Given the description of an element on the screen output the (x, y) to click on. 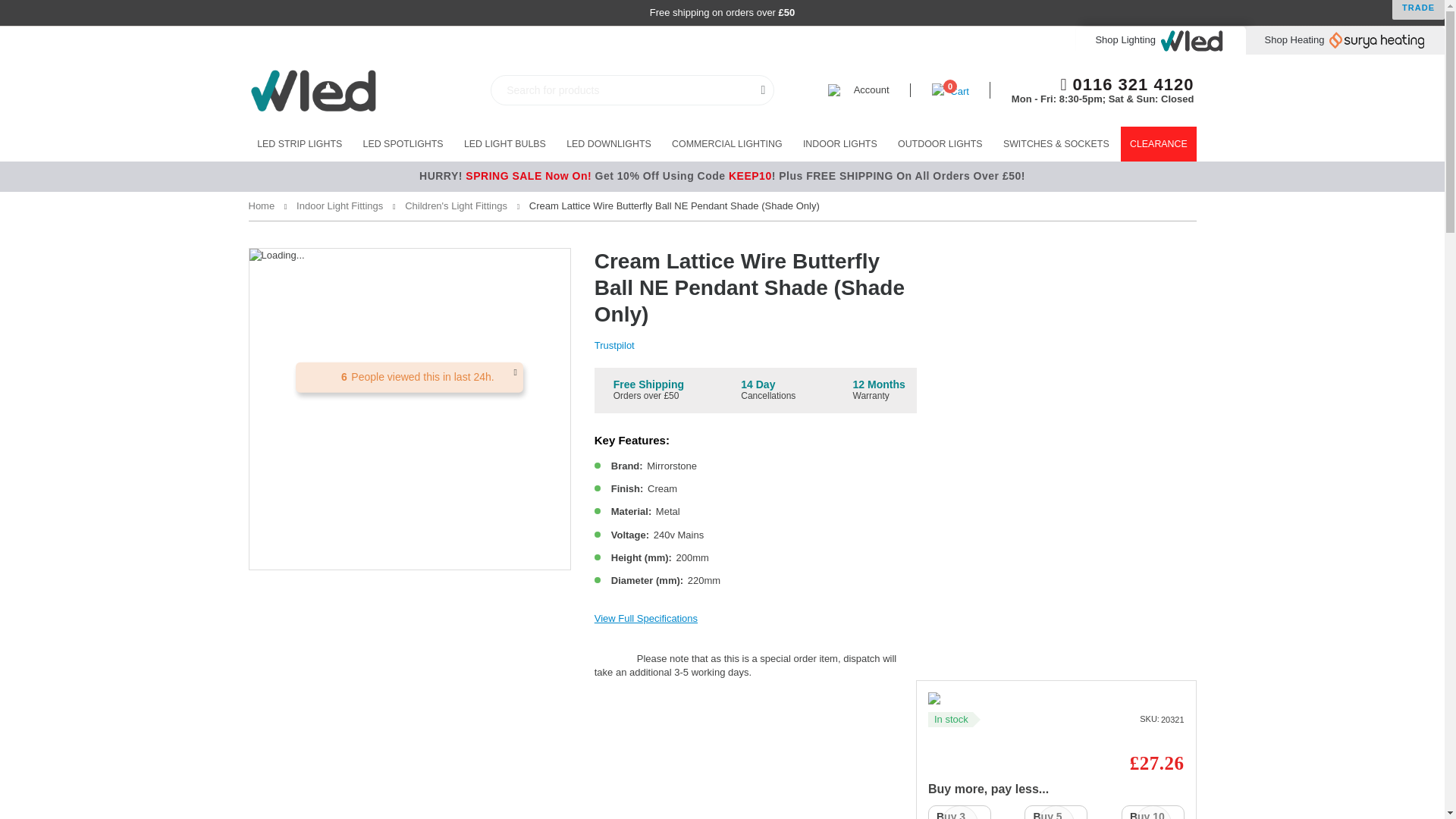
LED Spotlights (402, 143)
LED SPOTLIGHTS (950, 89)
Shop Heating (402, 143)
3 (1345, 39)
10 (959, 812)
LED Strip Lights (1153, 812)
Shop Lighting (298, 143)
5 (1159, 39)
0116 321 4120 (1056, 812)
Wholesale LED Lights (1126, 84)
LED STRIP LIGHTS (368, 90)
